Given the description of an element on the screen output the (x, y) to click on. 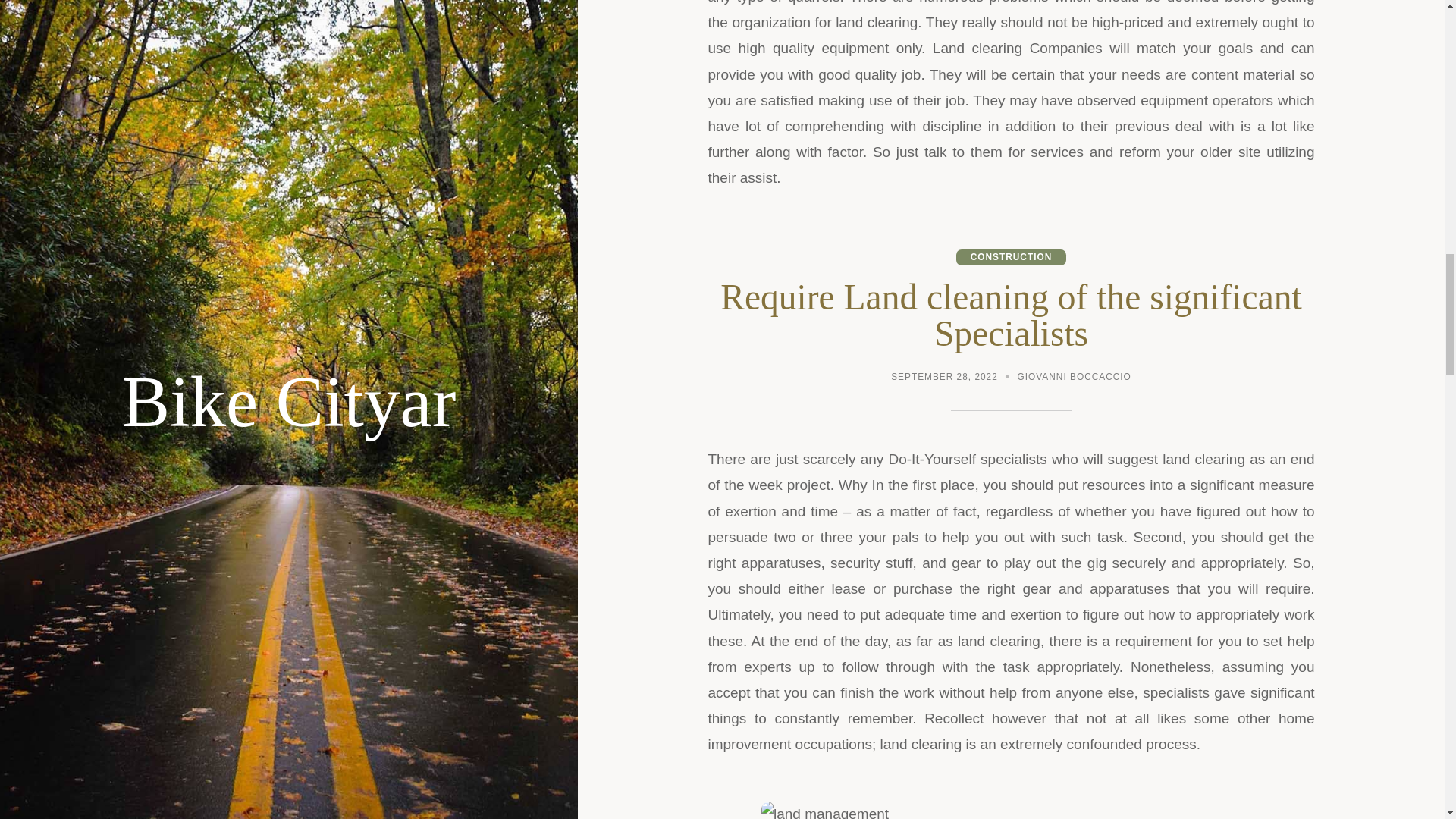
Require Land cleaning of the significant Specialists (1010, 314)
CONSTRUCTION (1011, 257)
GIOVANNI BOCCACCIO (1074, 378)
SEPTEMBER 28, 2022 (944, 378)
